Given the description of an element on the screen output the (x, y) to click on. 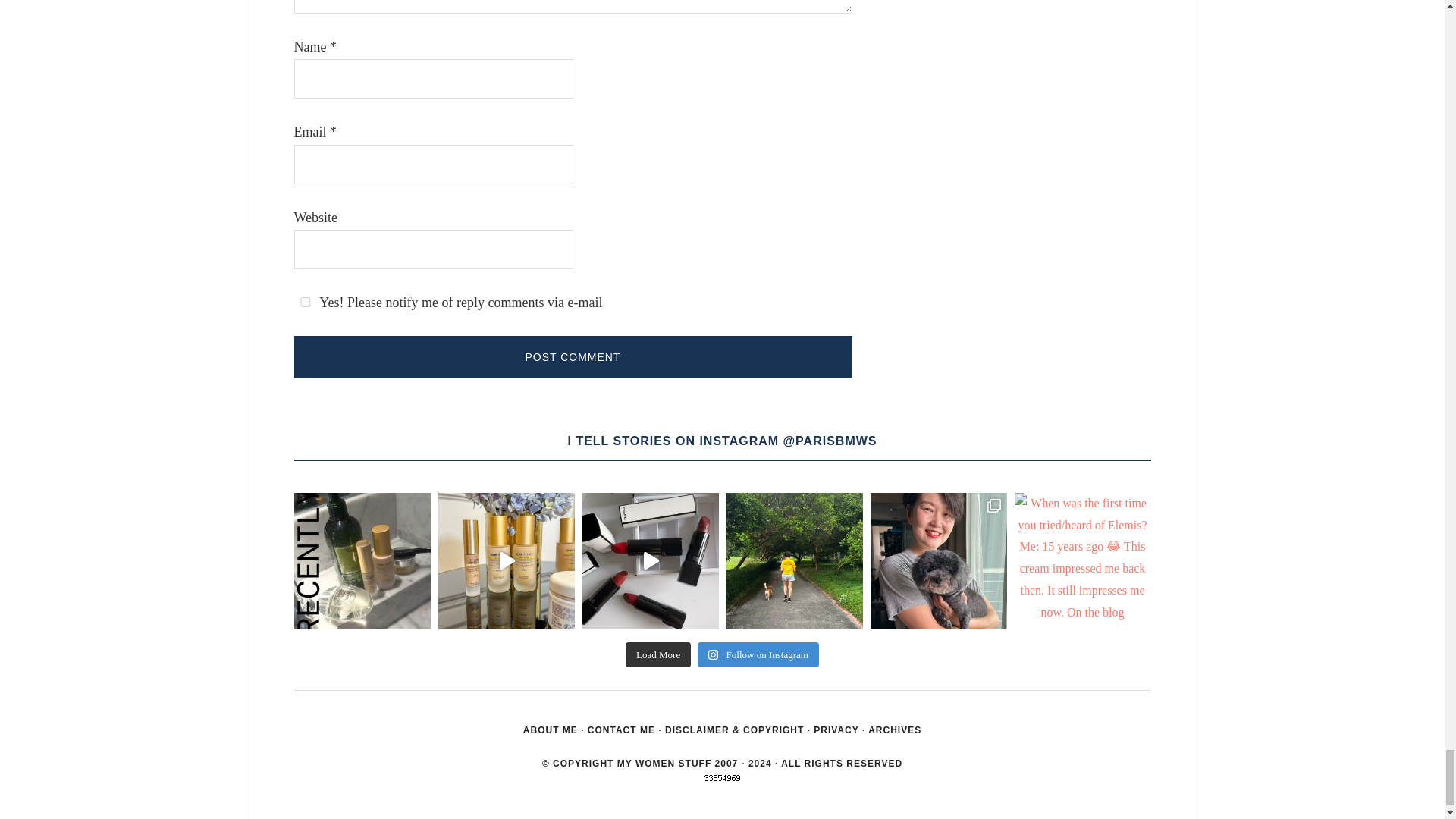
replies (305, 302)
Post Comment (572, 356)
